Given the description of an element on the screen output the (x, y) to click on. 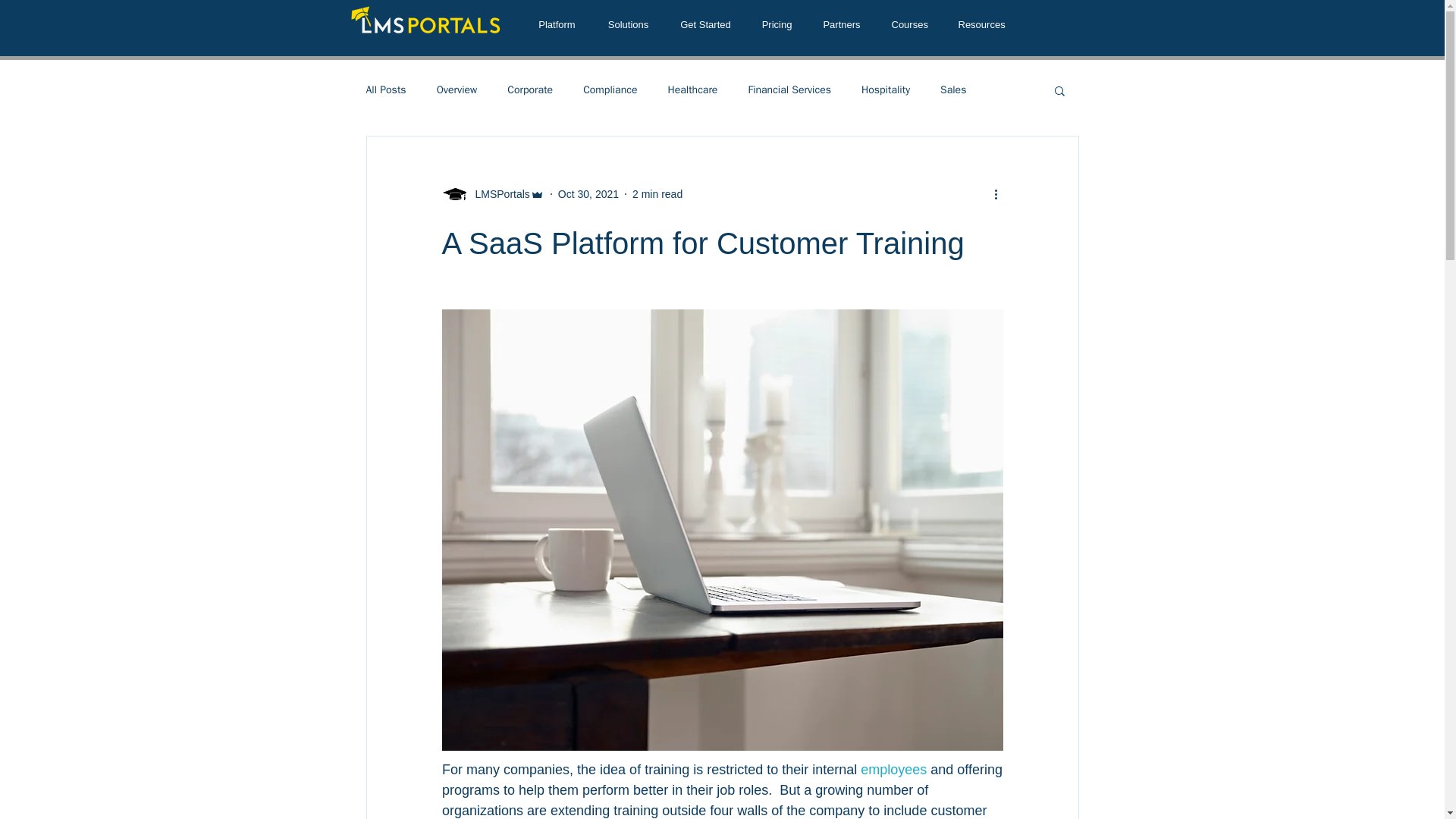
Hospitality (885, 90)
2 min read (656, 193)
Financial Services (789, 90)
Sales (953, 90)
All Posts (385, 90)
Platform (556, 24)
LMSPortals (497, 194)
Corporate (529, 90)
LMSPortals (492, 193)
Pricing (775, 24)
Compliance (610, 90)
Healthcare (691, 90)
Partners (841, 24)
Oct 30, 2021 (587, 193)
Overview (456, 90)
